Given the description of an element on the screen output the (x, y) to click on. 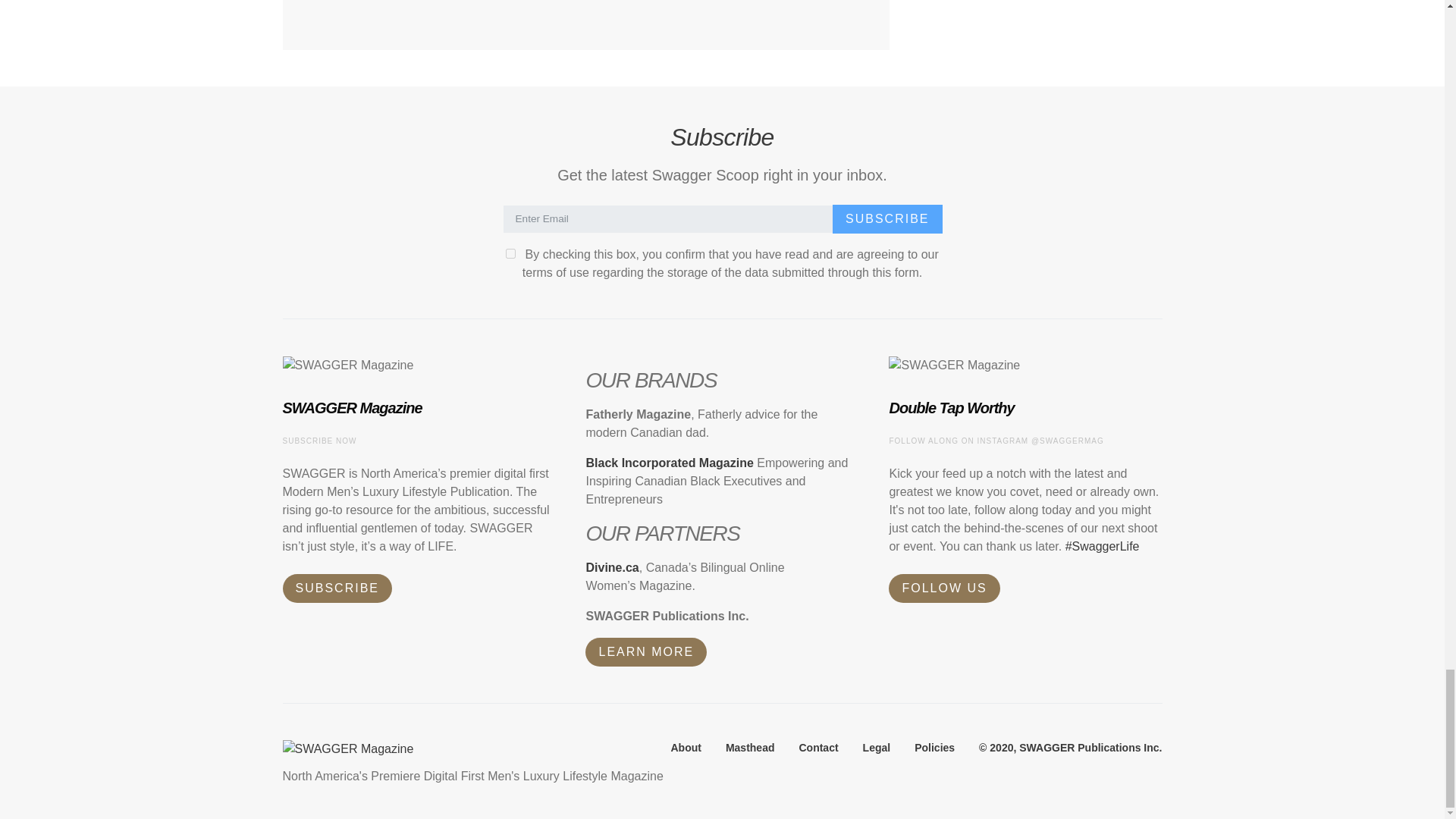
on (510, 253)
